Given the description of an element on the screen output the (x, y) to click on. 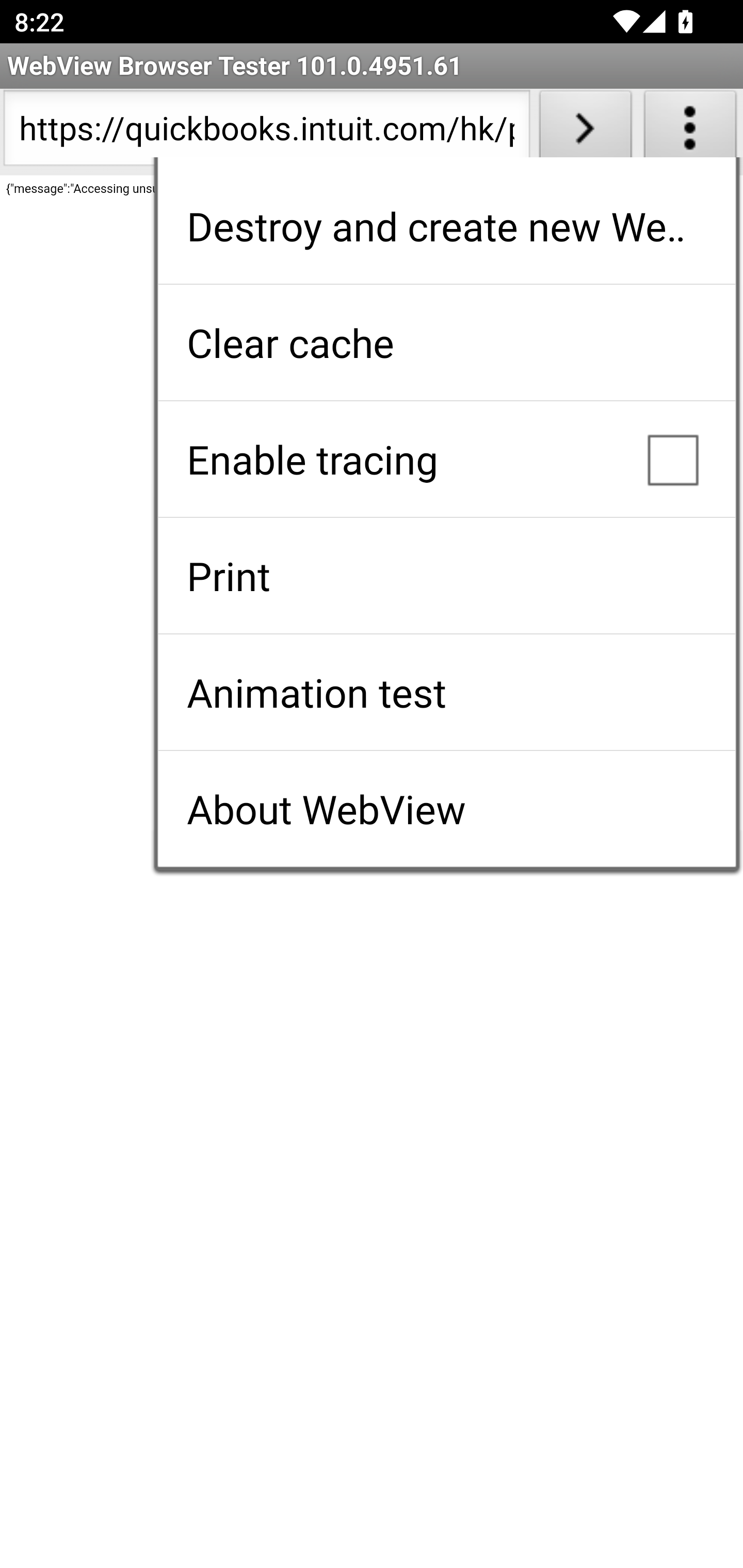
Destroy and create new WebView (446, 225)
Clear cache (446, 342)
Enable tracing (446, 459)
Print (446, 575)
Animation test (446, 692)
About WebView (446, 809)
